Given the description of an element on the screen output the (x, y) to click on. 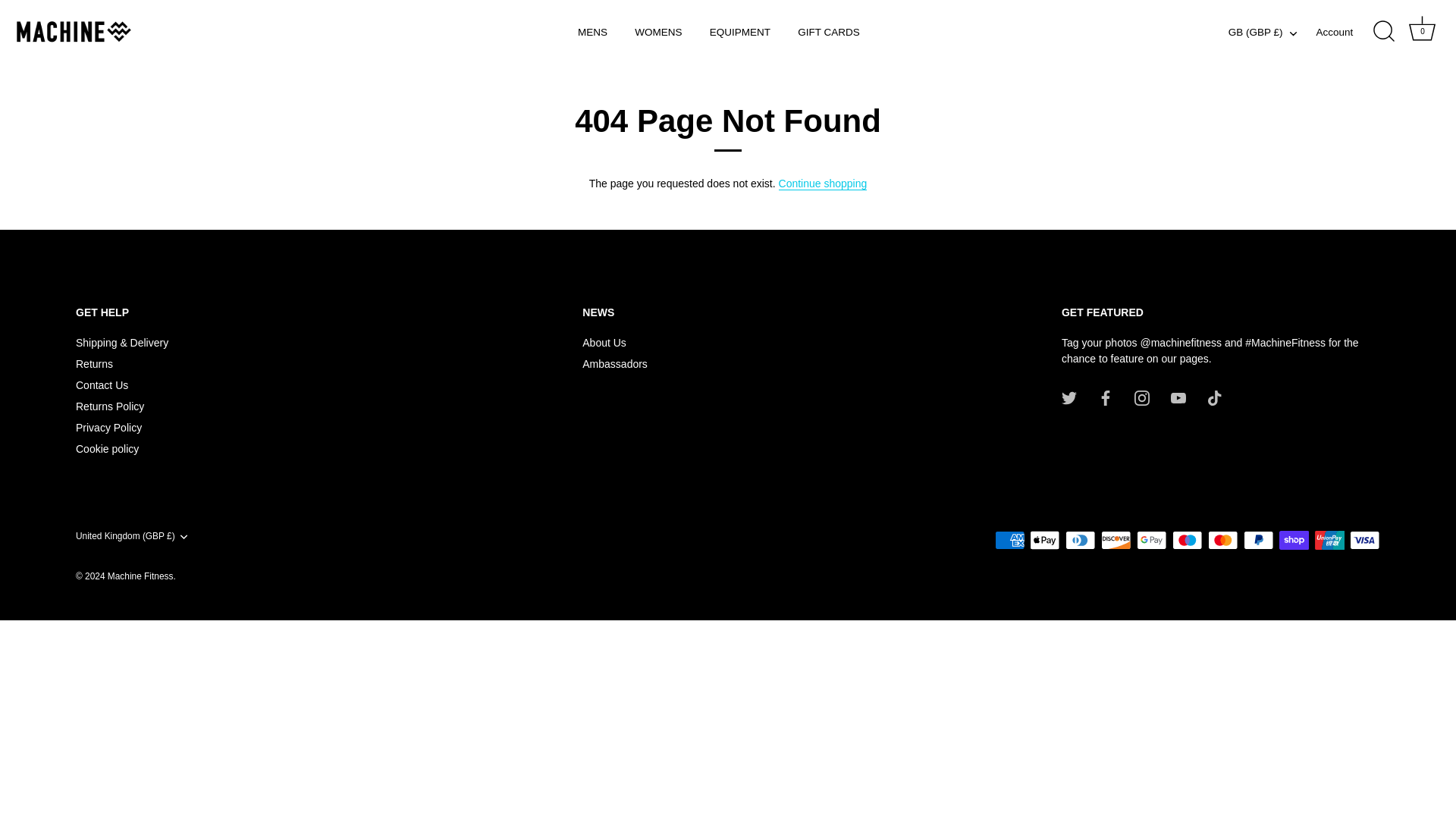
Youtube (1178, 397)
MENS (593, 31)
GIFT CARDS (829, 31)
Google Pay (1151, 539)
Maestro (1187, 539)
Mastercard (1222, 539)
Instagram (1142, 397)
WOMENS (658, 31)
Diners Club (1079, 539)
Shop Pay (1293, 539)
EQUIPMENT (740, 31)
American Express (1009, 539)
Discover (1115, 539)
Cart (1422, 28)
Union Pay (1329, 539)
